Given the description of an element on the screen output the (x, y) to click on. 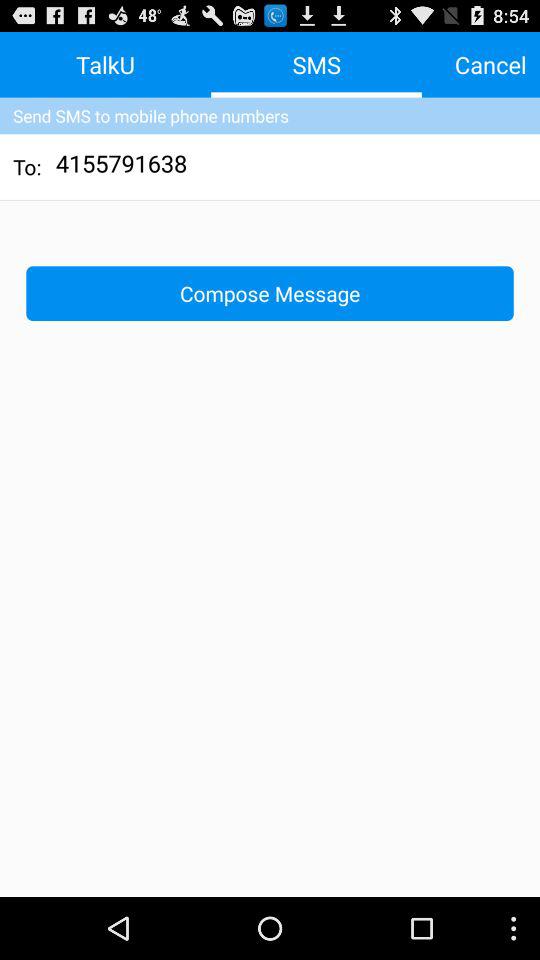
turn on the 4155791638 item (122, 166)
